Given the description of an element on the screen output the (x, y) to click on. 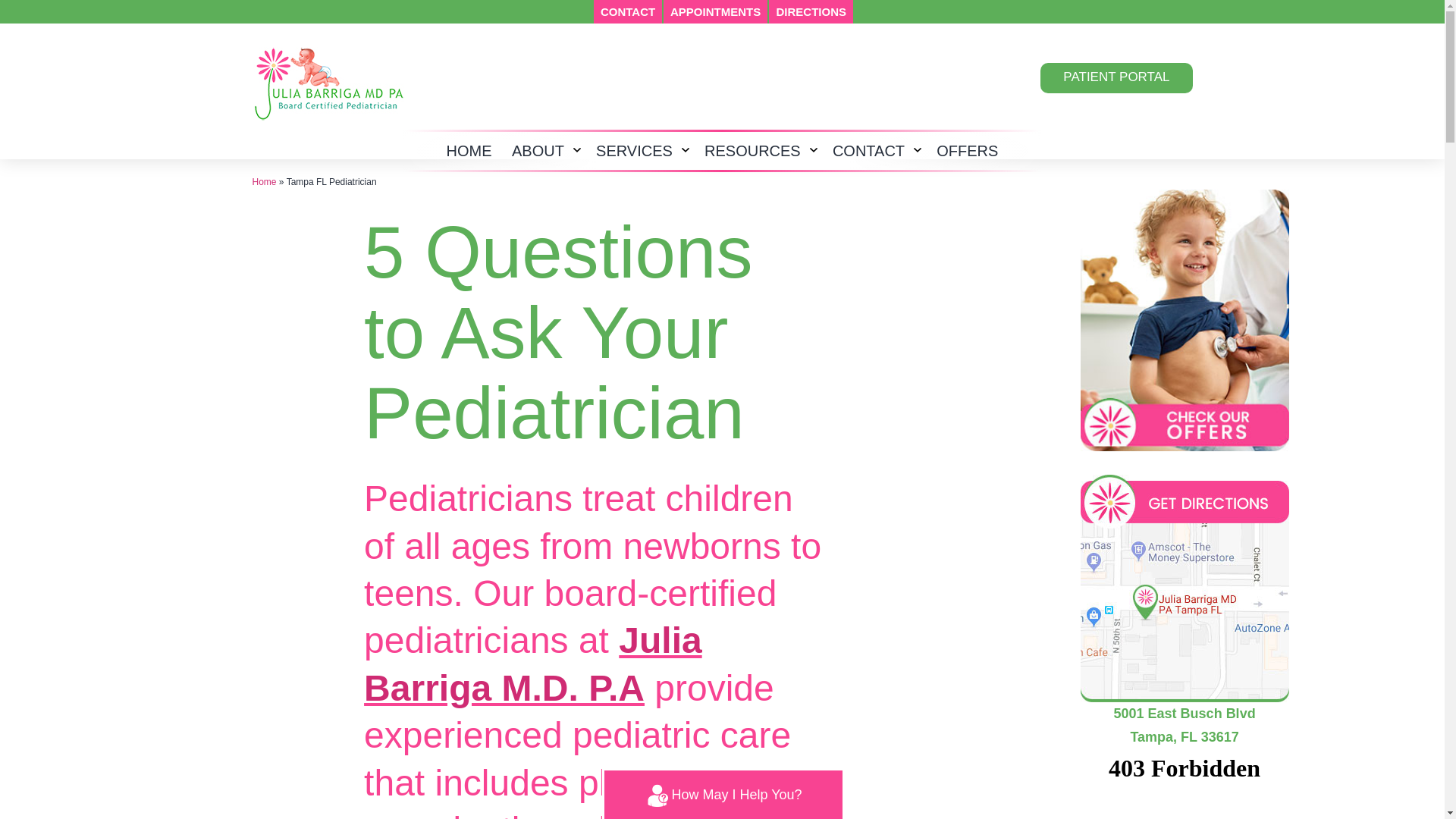
SERVICES (634, 149)
APPOINTMENTS (715, 11)
HOME (467, 149)
CONTACT (868, 149)
DIRECTIONS (810, 11)
CONTACT (628, 11)
RESOURCES (752, 149)
PATIENT PORTAL (1116, 78)
ABOUT (537, 149)
